Given the description of an element on the screen output the (x, y) to click on. 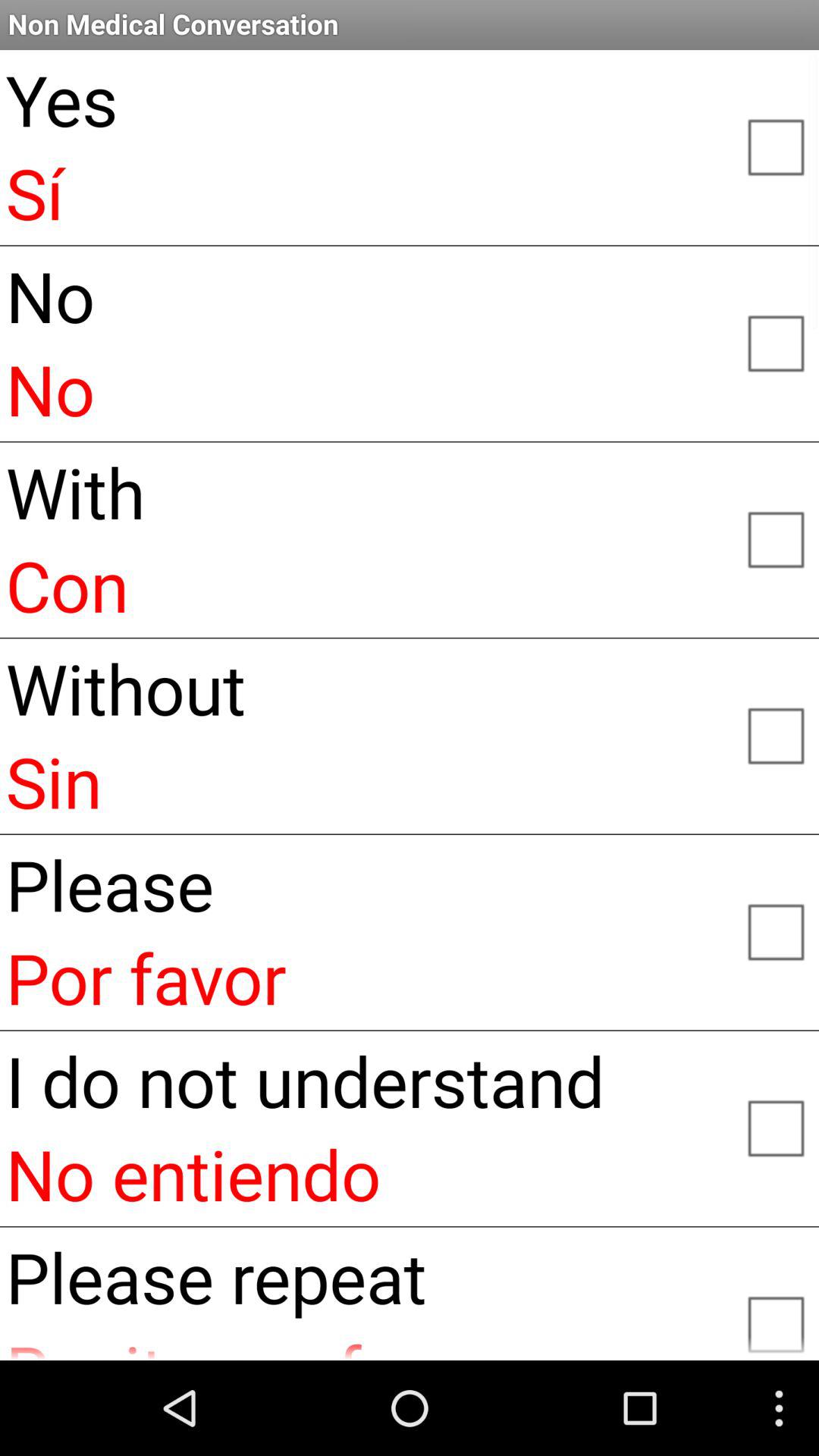
its a box that helps translate please (775, 930)
